Given the description of an element on the screen output the (x, y) to click on. 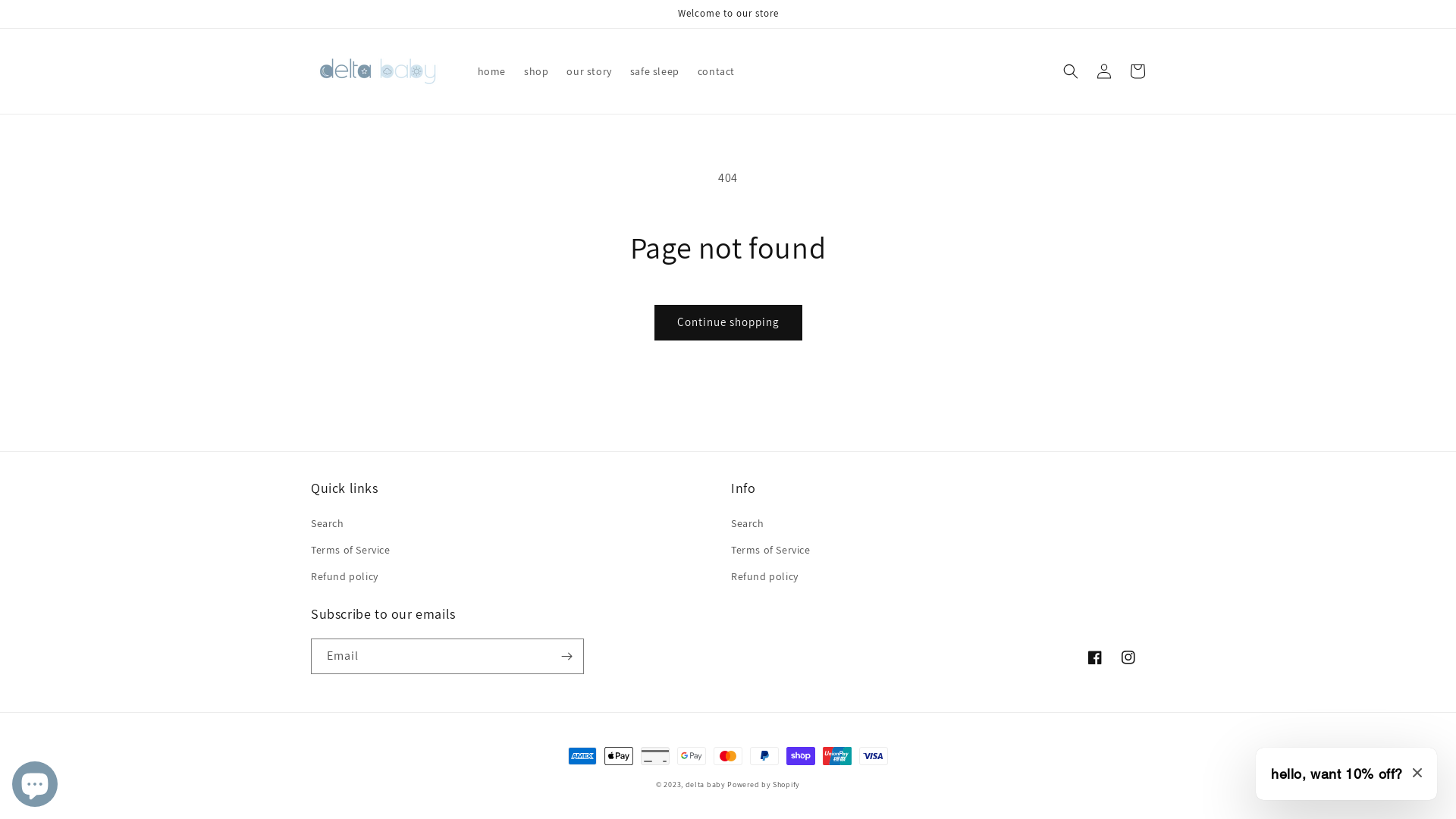
safe sleep Element type: text (654, 71)
Search Element type: text (747, 525)
Log in Element type: text (1103, 70)
Facebook Element type: text (1094, 657)
delta baby Element type: text (705, 784)
Continue shopping Element type: text (727, 322)
Cart Element type: text (1137, 70)
contact Element type: text (715, 71)
our story Element type: text (588, 71)
Refund policy Element type: text (764, 576)
shop Element type: text (535, 71)
Powered by Shopify Element type: text (763, 784)
home Element type: text (491, 71)
Shopify online store chat Element type: hover (34, 780)
Search Element type: text (327, 525)
Terms of Service Element type: text (350, 549)
Refund policy Element type: text (344, 576)
Terms of Service Element type: text (770, 549)
Instagram Element type: text (1128, 657)
